Given the description of an element on the screen output the (x, y) to click on. 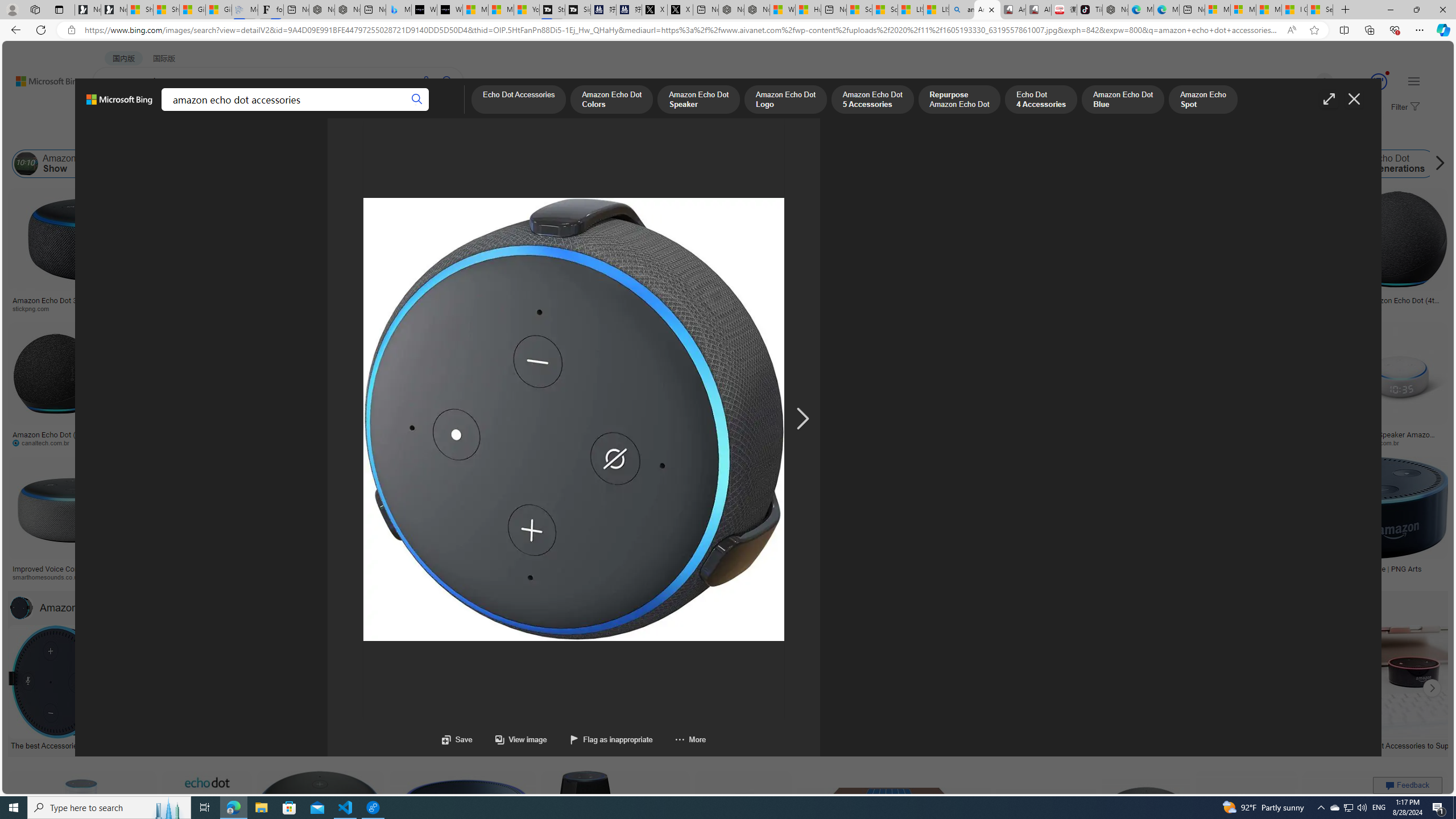
pngarts.com (1311, 576)
Amazon.com: echo dot accessories (1245, 744)
Search using voice (426, 80)
Layout (252, 135)
View image (509, 739)
dulcesueno.com.ec (741, 442)
avenidatecnologica.com (1273, 442)
ACADEMIC (311, 111)
Alexa Echo Png Pic Png Arts Images (1282, 303)
pricehistoryapp.com (276, 442)
